Given the description of an element on the screen output the (x, y) to click on. 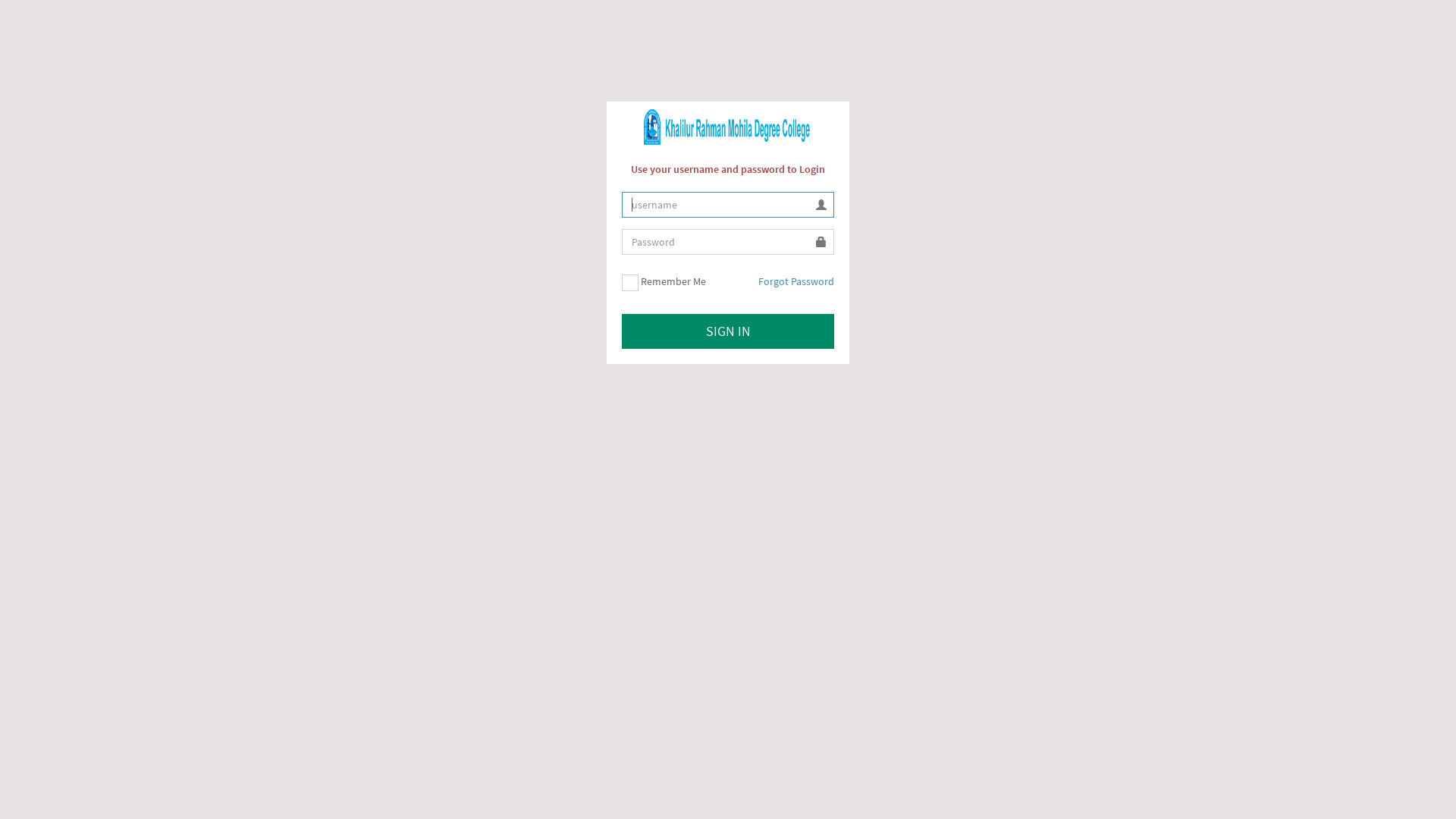
Forgot Password Element type: text (786, 277)
SIGN IN Element type: text (727, 330)
